Given the description of an element on the screen output the (x, y) to click on. 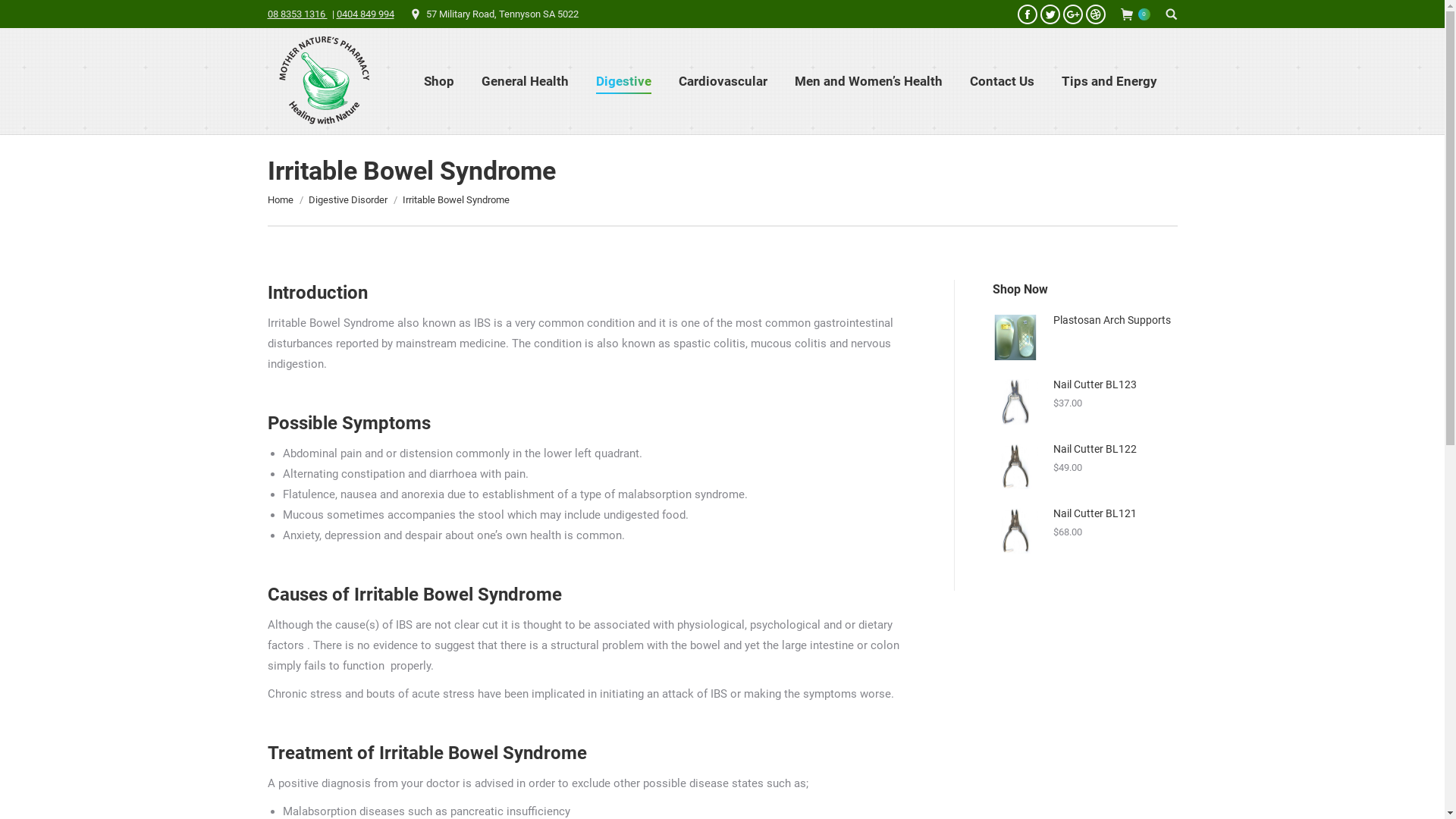
Cardiovascular Element type: text (722, 80)
Plastosan Arch Supports Element type: text (1083, 319)
Facebook Element type: text (1027, 14)
Tips and Energy Element type: text (1109, 80)
Digestive Element type: text (623, 80)
Shop Element type: text (438, 80)
 0 Element type: text (1135, 13)
  Element type: text (1170, 13)
Dribbble Element type: text (1095, 14)
Nail Cutter BL122 Element type: text (1083, 448)
Nail Cutter BL121 Element type: text (1083, 513)
Google+ Element type: text (1072, 14)
Twitter Element type: text (1050, 14)
08 8353 1316 Element type: text (296, 13)
General Health Element type: text (524, 80)
Home Element type: text (279, 199)
Digestive Disorder Element type: text (346, 199)
Go! Element type: text (21, 14)
Contact Us Element type: text (1001, 80)
Nail Cutter BL123 Element type: text (1083, 384)
0404 849 994 Element type: text (365, 13)
